Given the description of an element on the screen output the (x, y) to click on. 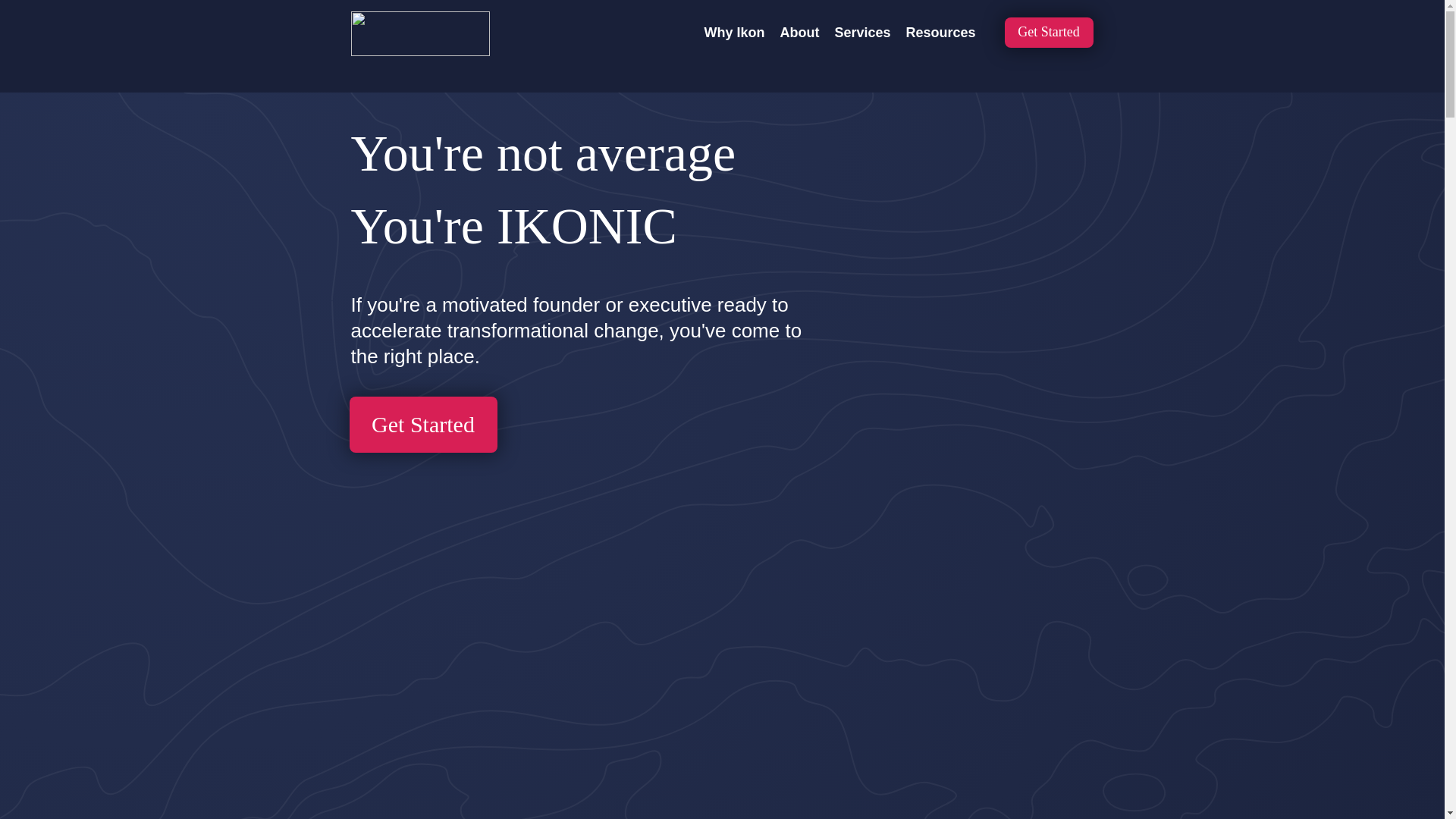
Why Ikon (734, 33)
About (799, 33)
Get Started (1048, 32)
Get Started (422, 424)
